Given the description of an element on the screen output the (x, y) to click on. 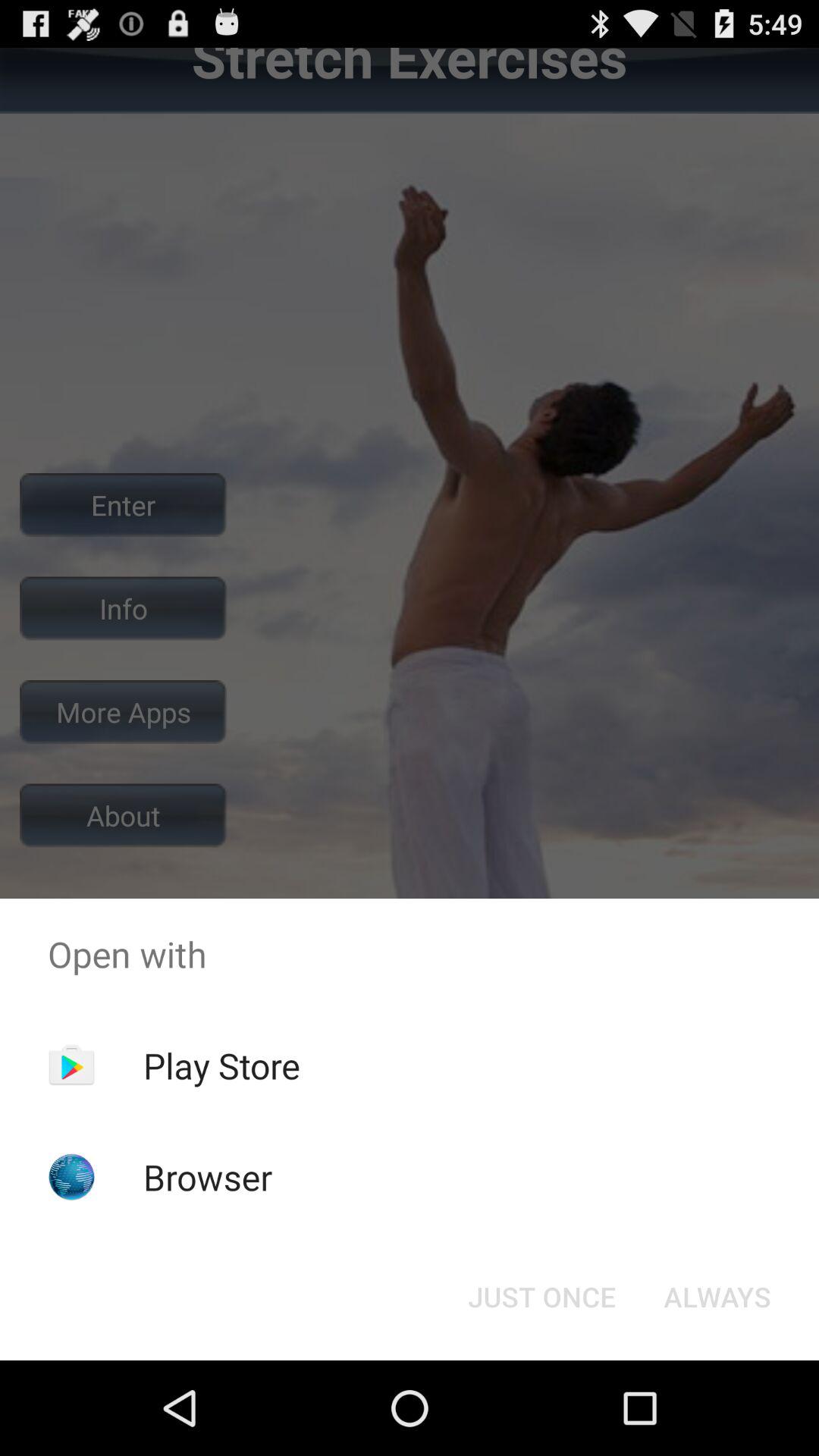
press play store (221, 1065)
